Given the description of an element on the screen output the (x, y) to click on. 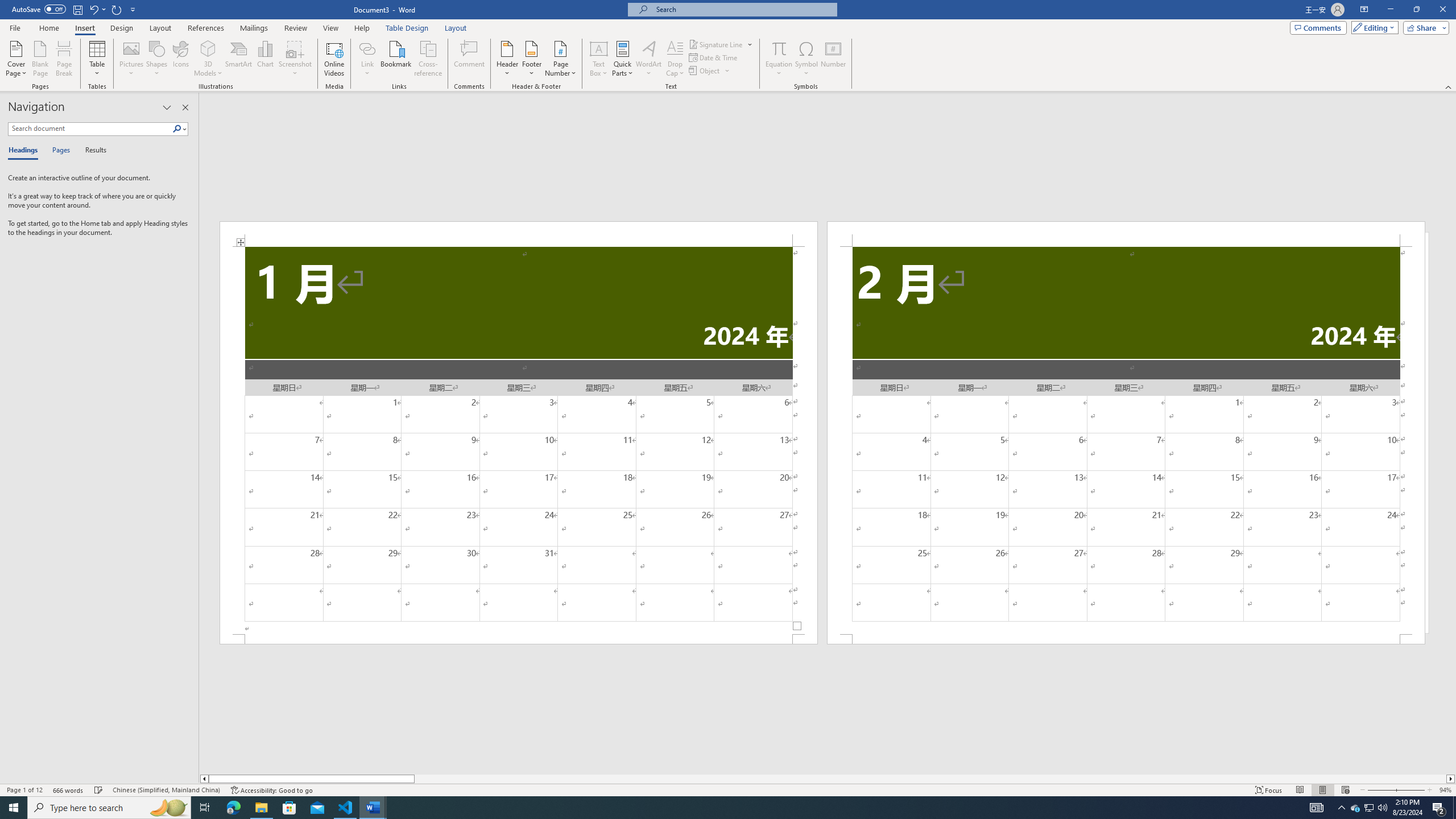
Chart... (265, 58)
Microsoft search (742, 9)
Layout (455, 28)
Date & Time... (714, 56)
Drop Cap (674, 58)
AutoSave (38, 9)
Design (122, 28)
Zoom Out (1380, 790)
Signature Line (716, 44)
Mailings (253, 28)
